Given the description of an element on the screen output the (x, y) to click on. 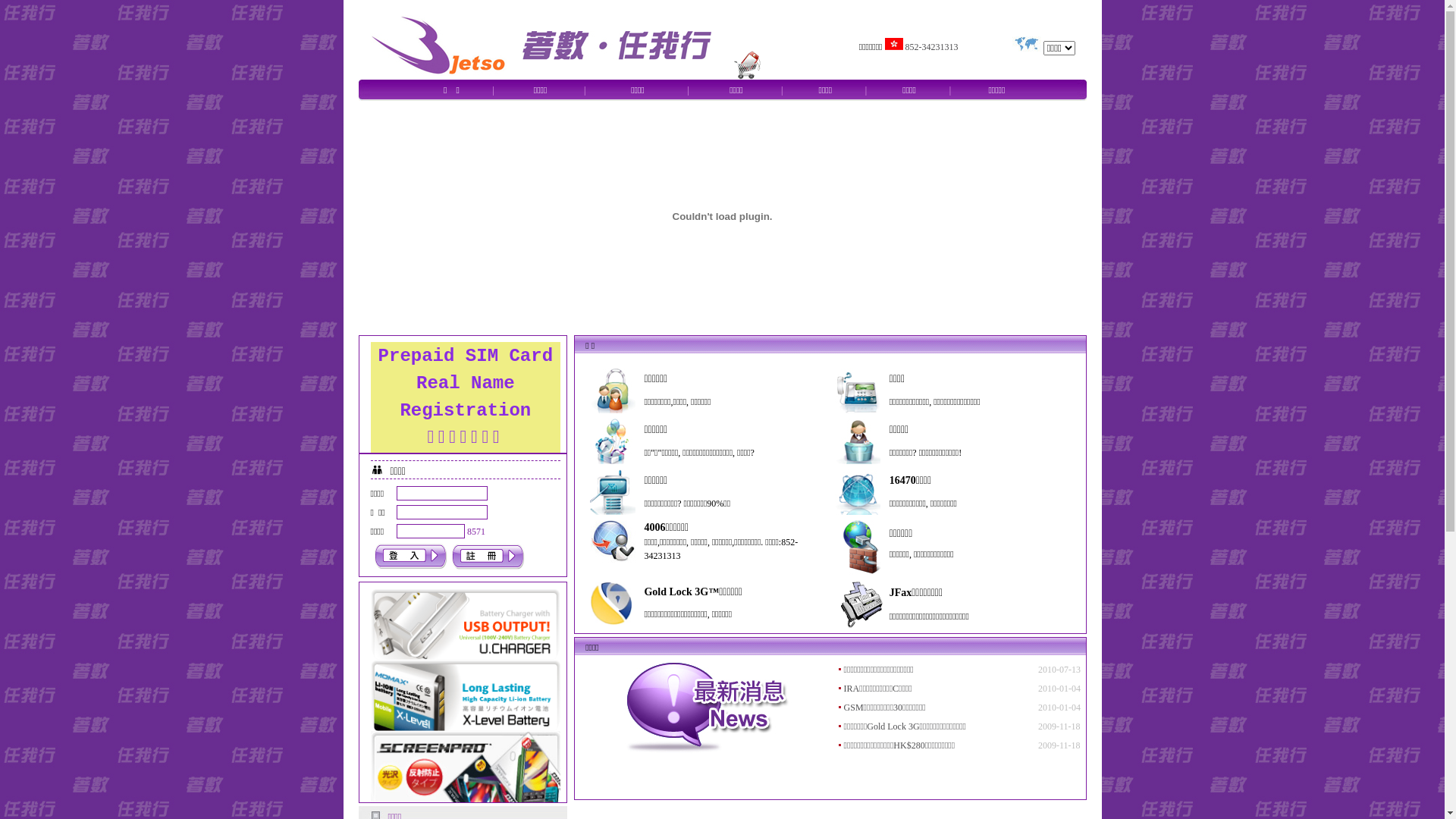
852-34231313 Element type: text (931, 45)
